Given the description of an element on the screen output the (x, y) to click on. 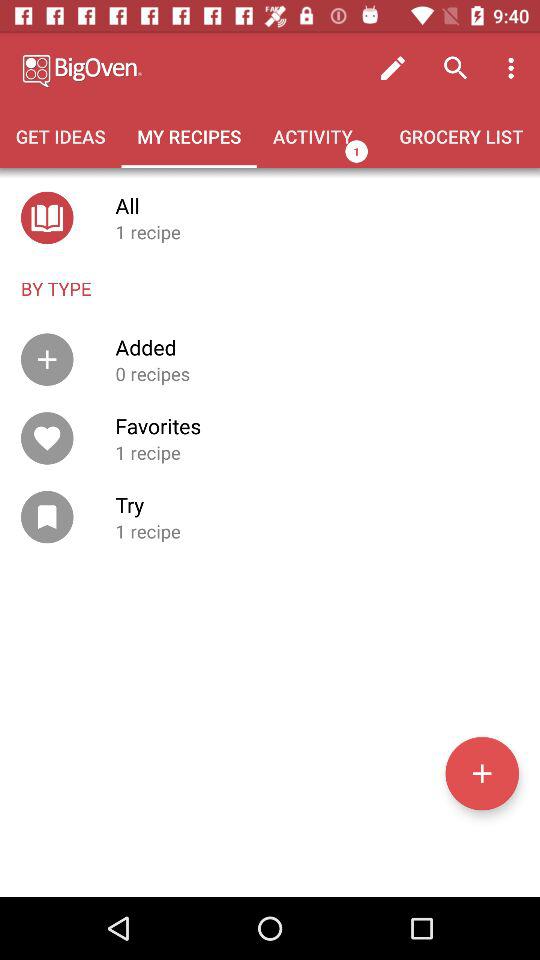
click the icon at the bottom right corner (482, 773)
